Given the description of an element on the screen output the (x, y) to click on. 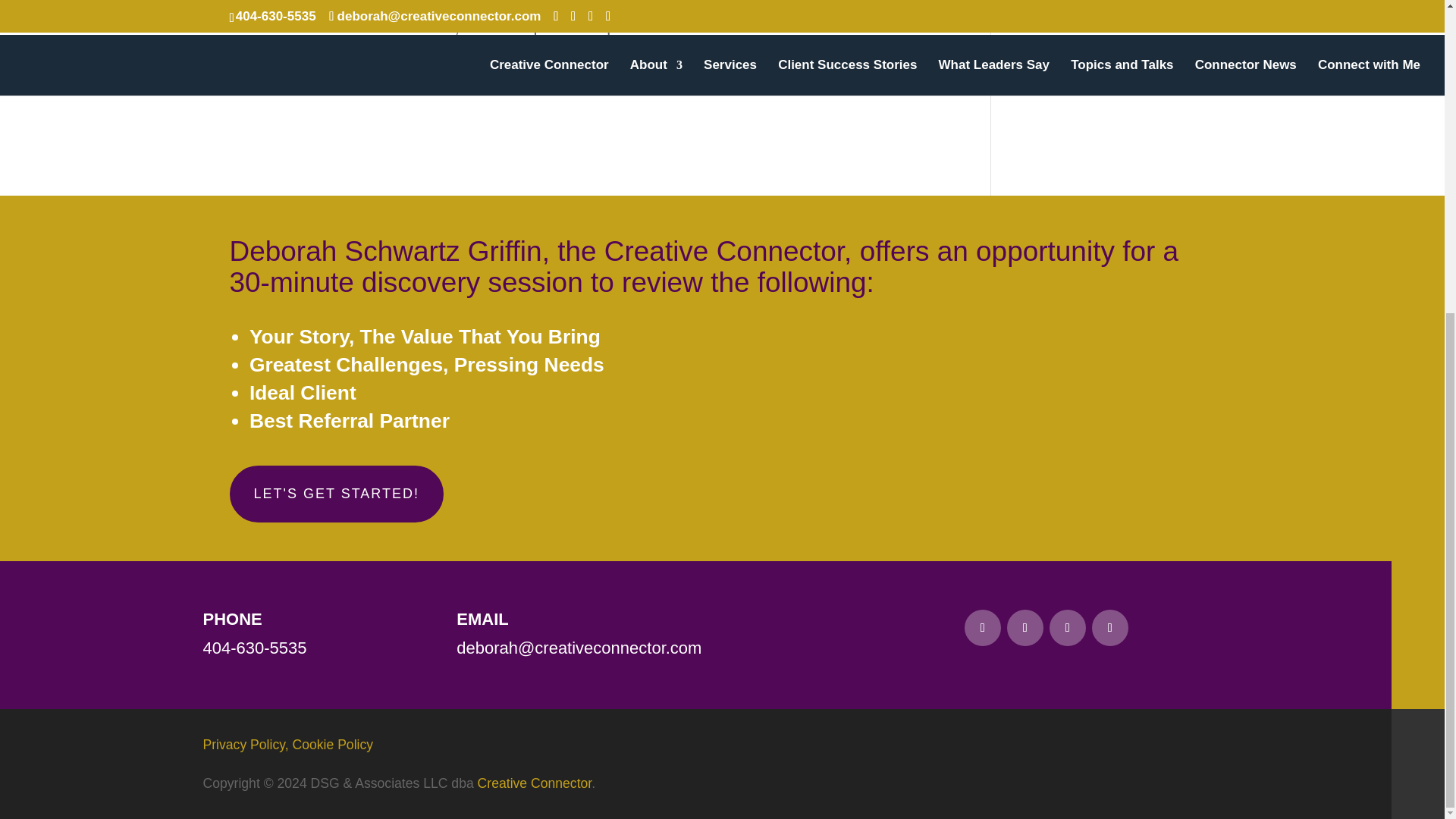
Follow on LinkedIn (982, 627)
Follow on Facebook (1025, 627)
Follow on Youtube (1067, 627)
Follow on Instagram (1110, 627)
